Given the description of an element on the screen output the (x, y) to click on. 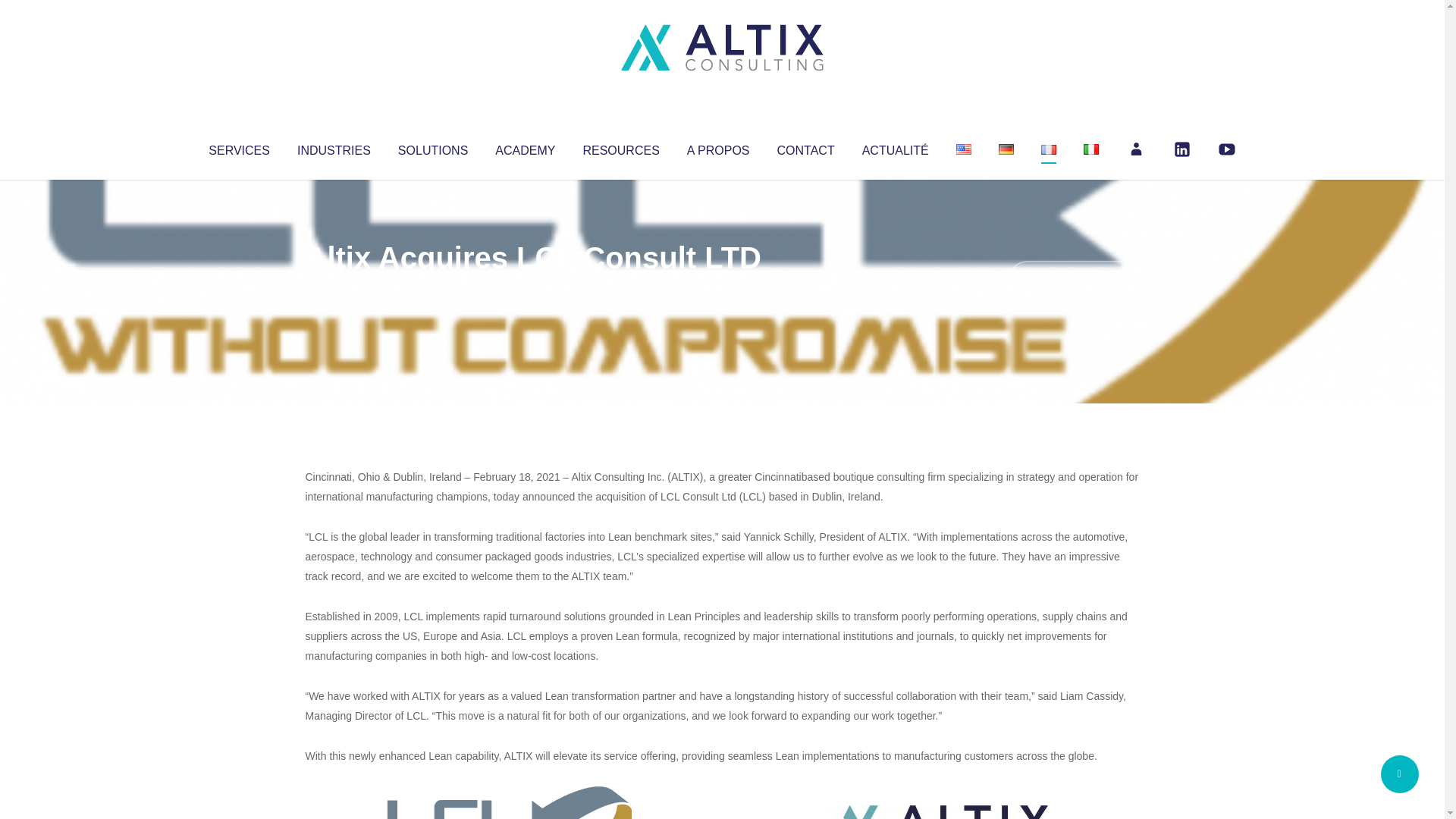
INDUSTRIES (334, 146)
A PROPOS (718, 146)
ACADEMY (524, 146)
Uncategorized (530, 287)
Altix (333, 287)
SERVICES (238, 146)
Articles par Altix (333, 287)
No Comments (1073, 278)
RESOURCES (620, 146)
SOLUTIONS (432, 146)
